Given the description of an element on the screen output the (x, y) to click on. 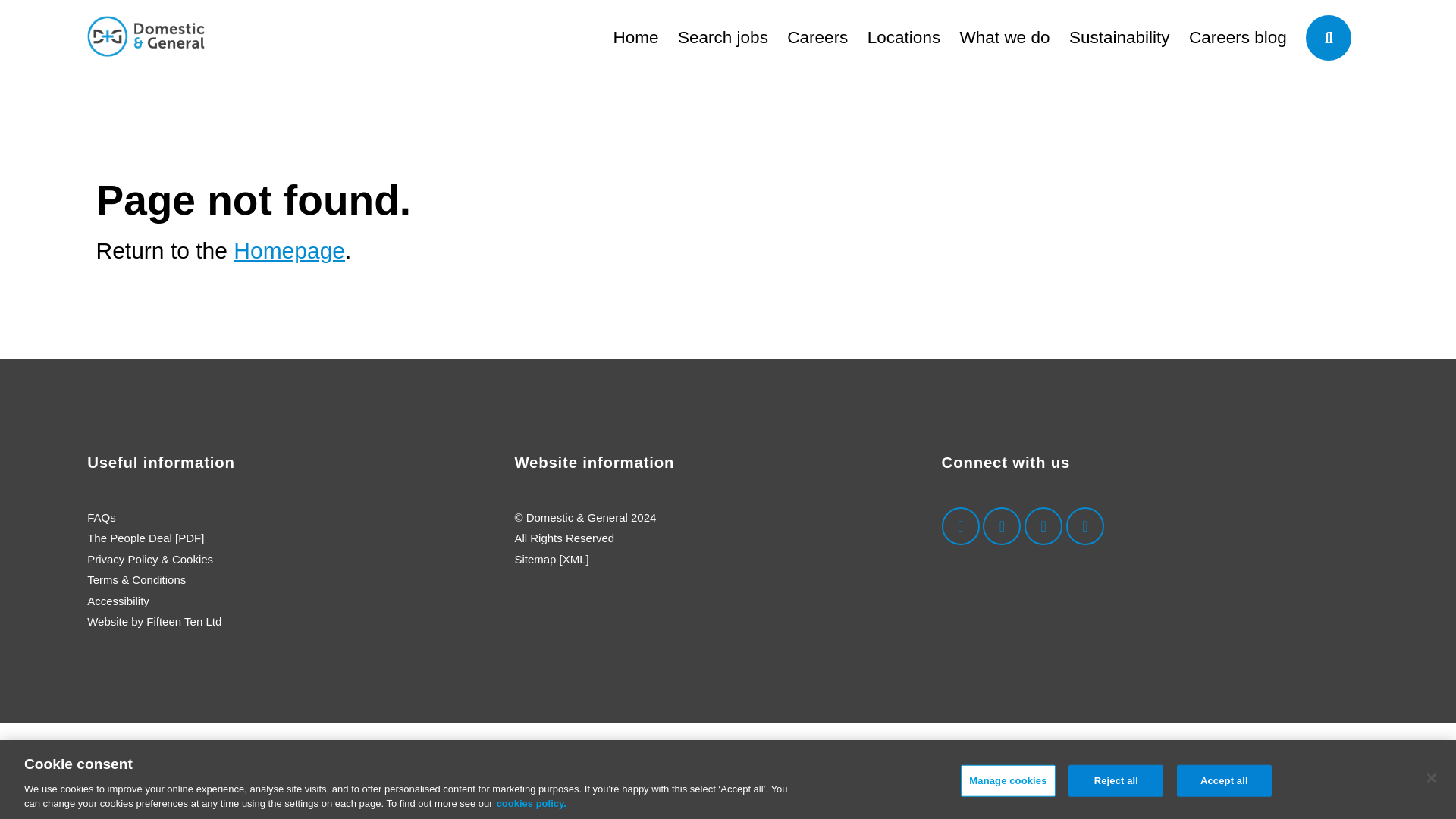
Locations (903, 36)
Search jobs (723, 36)
Home (635, 36)
Careers (817, 36)
Sustainability (1119, 36)
Careers blog (1238, 36)
What we do (1004, 36)
Fifteen Ten Ltd (184, 621)
Homepage (288, 250)
Accessibility (118, 600)
